Given the description of an element on the screen output the (x, y) to click on. 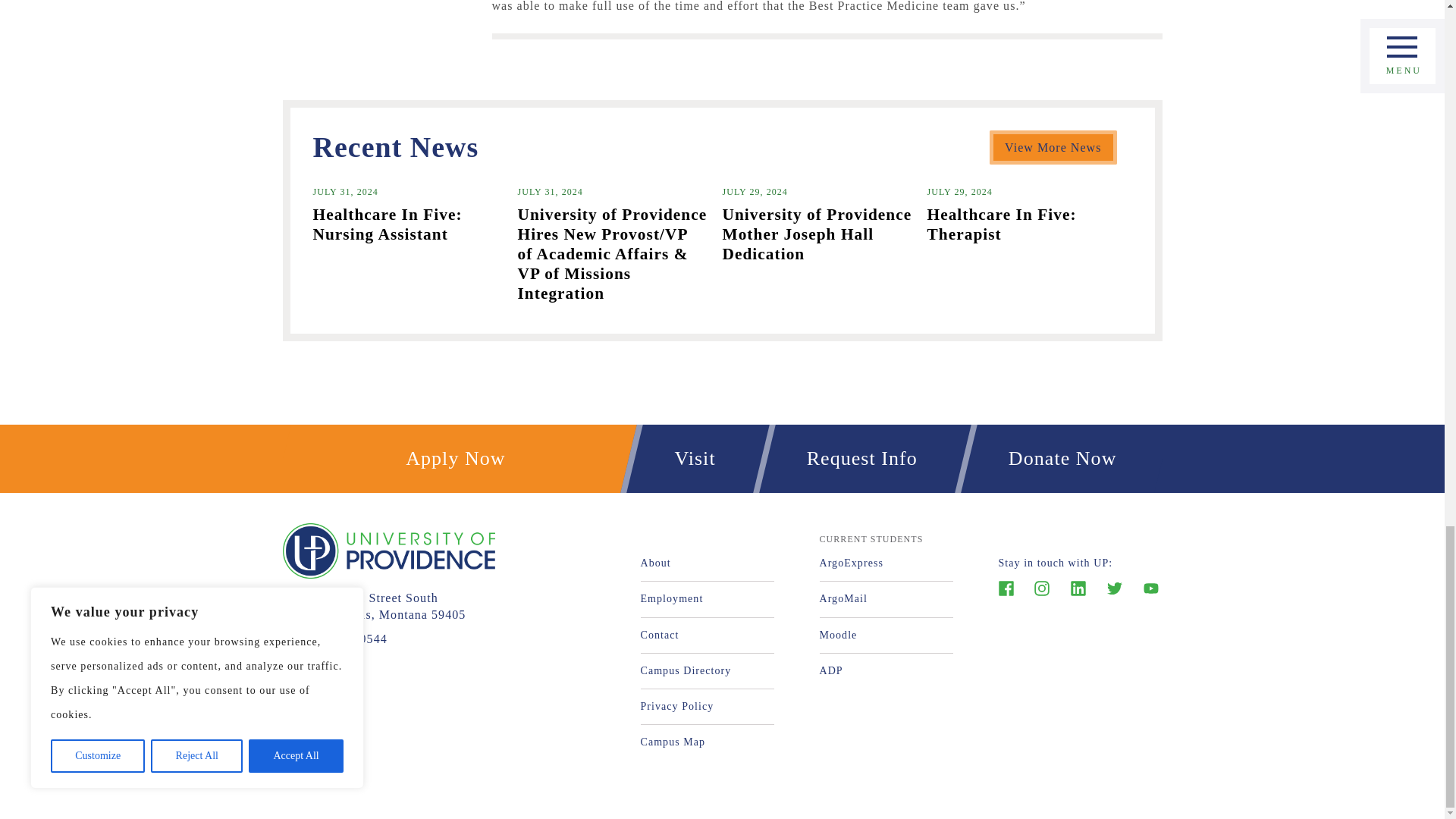
University of Providence University of Providence Logo (388, 551)
